Given the description of an element on the screen output the (x, y) to click on. 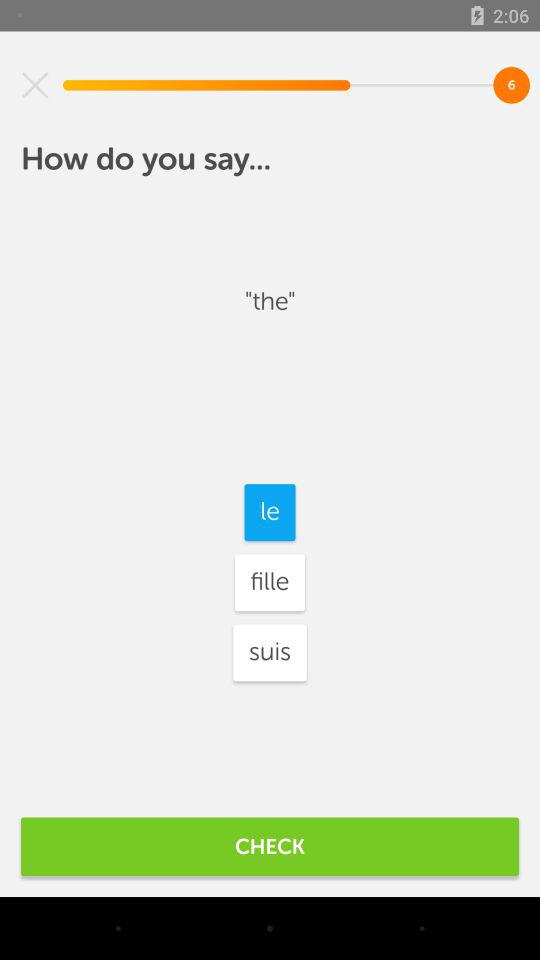
click icon below the le item (269, 582)
